Given the description of an element on the screen output the (x, y) to click on. 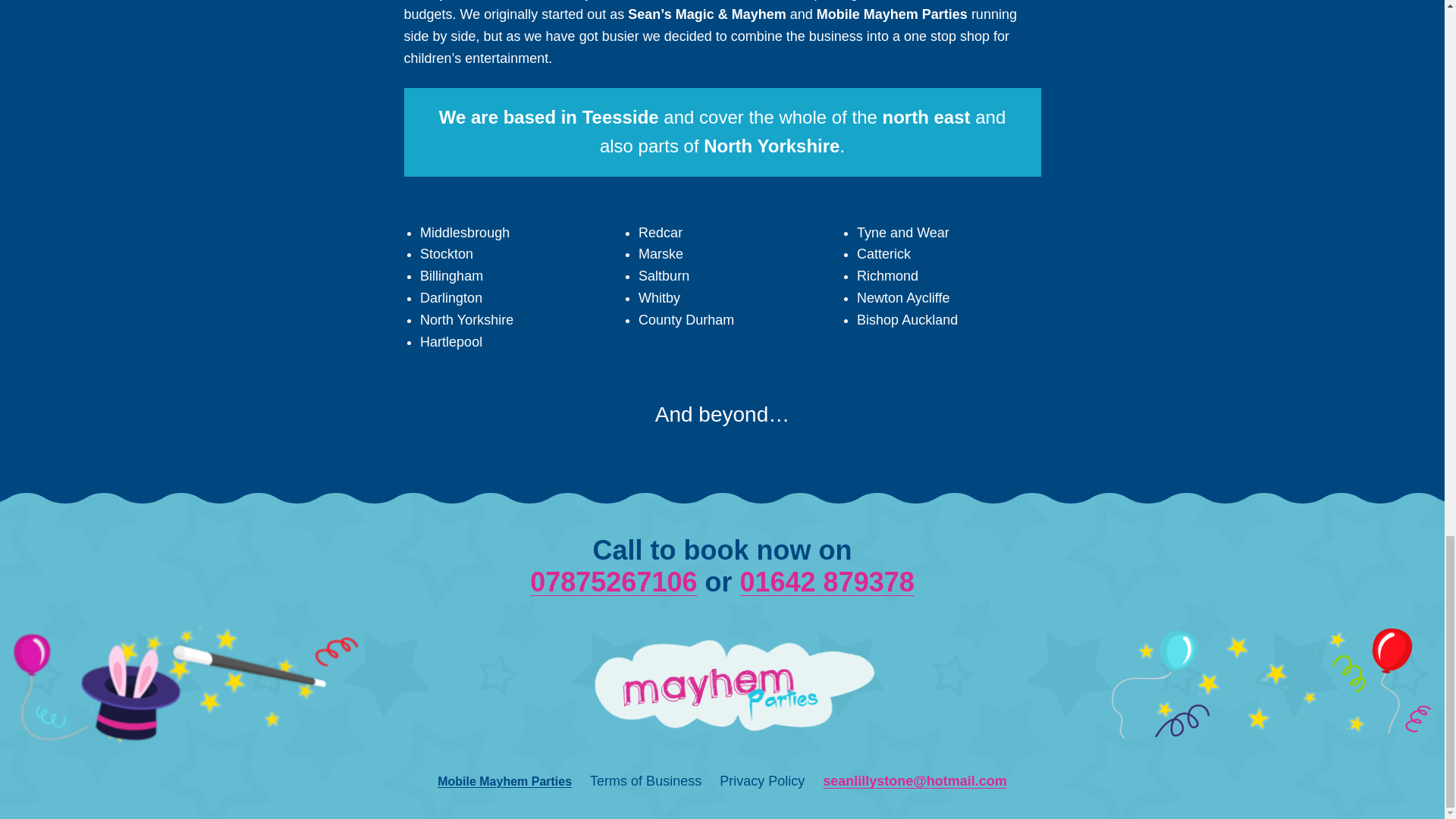
Terms of Business (645, 781)
07875267106 (613, 581)
01642 879378 (826, 581)
Mobile Mayhem Parties (505, 780)
Privacy Policy (762, 781)
